Given the description of an element on the screen output the (x, y) to click on. 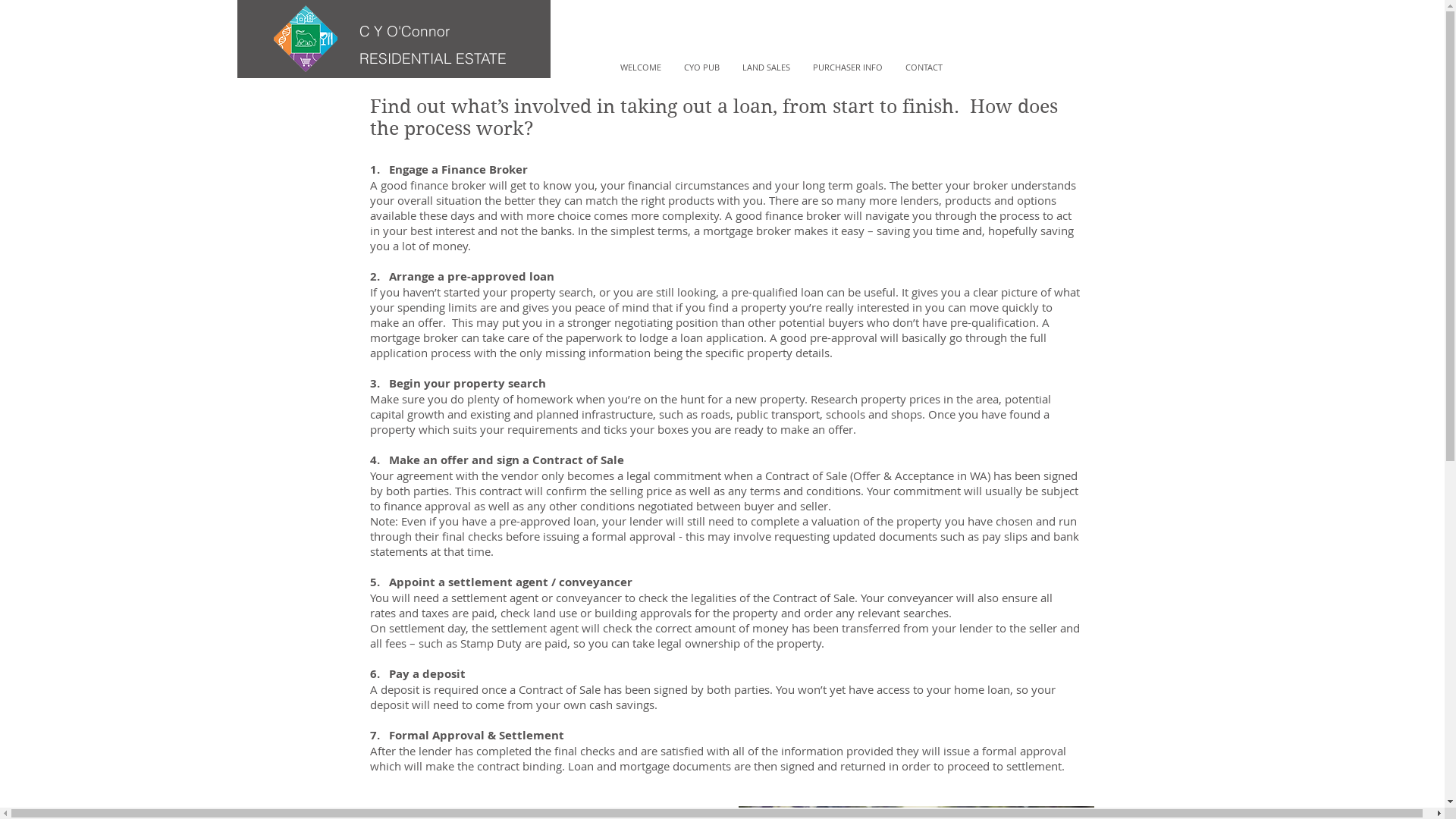
CONTACT Element type: text (923, 67)
WELCOME Element type: text (639, 67)
CYO PUB Element type: text (700, 67)
C Y O'Connor Element type: text (404, 30)
RESIDENTIAL ESTATE Element type: text (432, 58)
CY O'Connor Village Element type: text (1369, 30)
logo copy.png Element type: hover (304, 38)
